Given the description of an element on the screen output the (x, y) to click on. 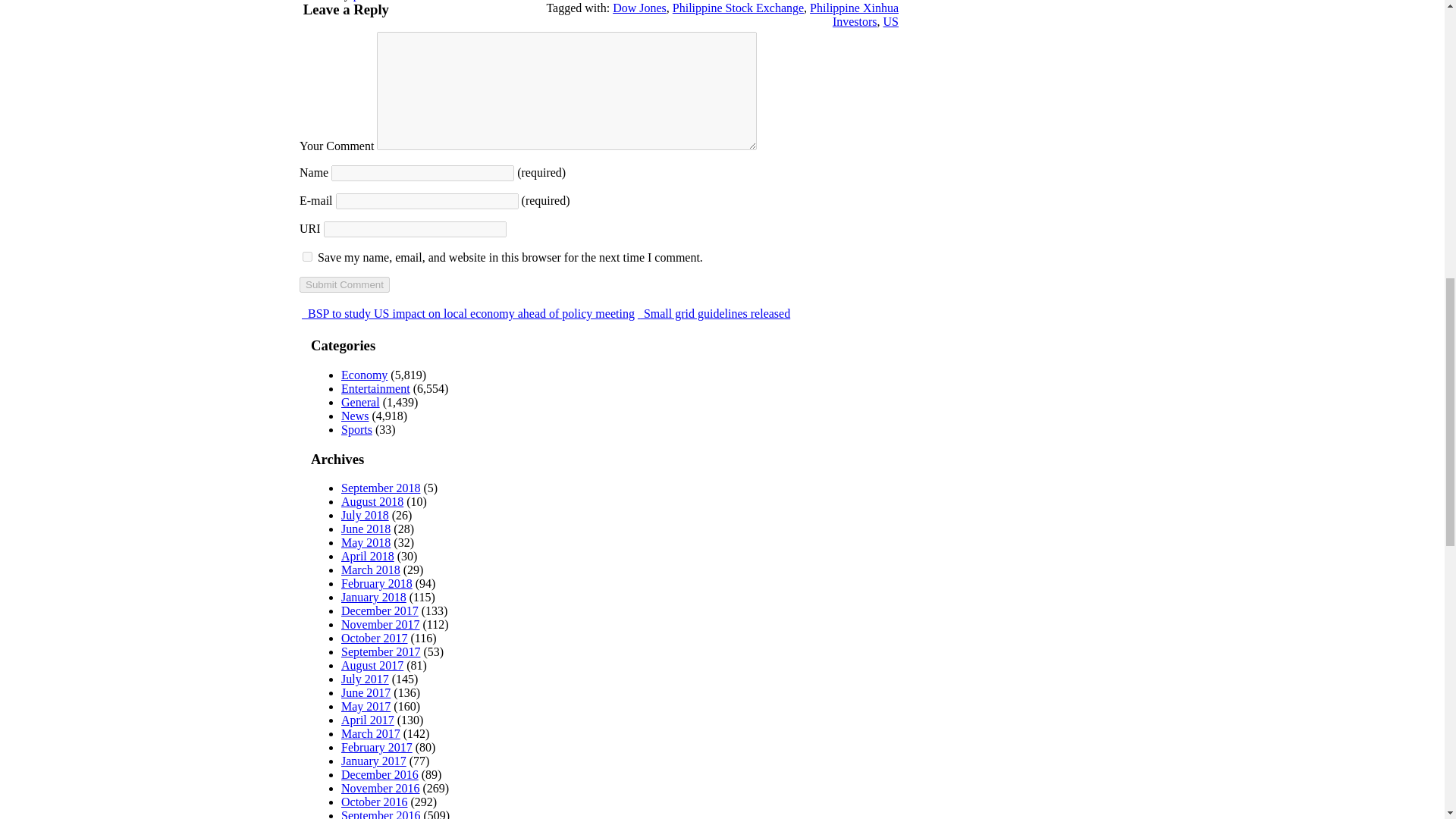
December 2017 (379, 610)
October 2017 (373, 637)
July 2017 (364, 678)
September 2017 (380, 651)
Entertainment (375, 388)
  Small grid guidelines released (713, 313)
April 2018 (367, 555)
Submit Comment (344, 284)
June 2018 (365, 528)
Dow Jones (639, 7)
Economy (363, 374)
August 2018 (371, 501)
yes (307, 256)
